Given the description of an element on the screen output the (x, y) to click on. 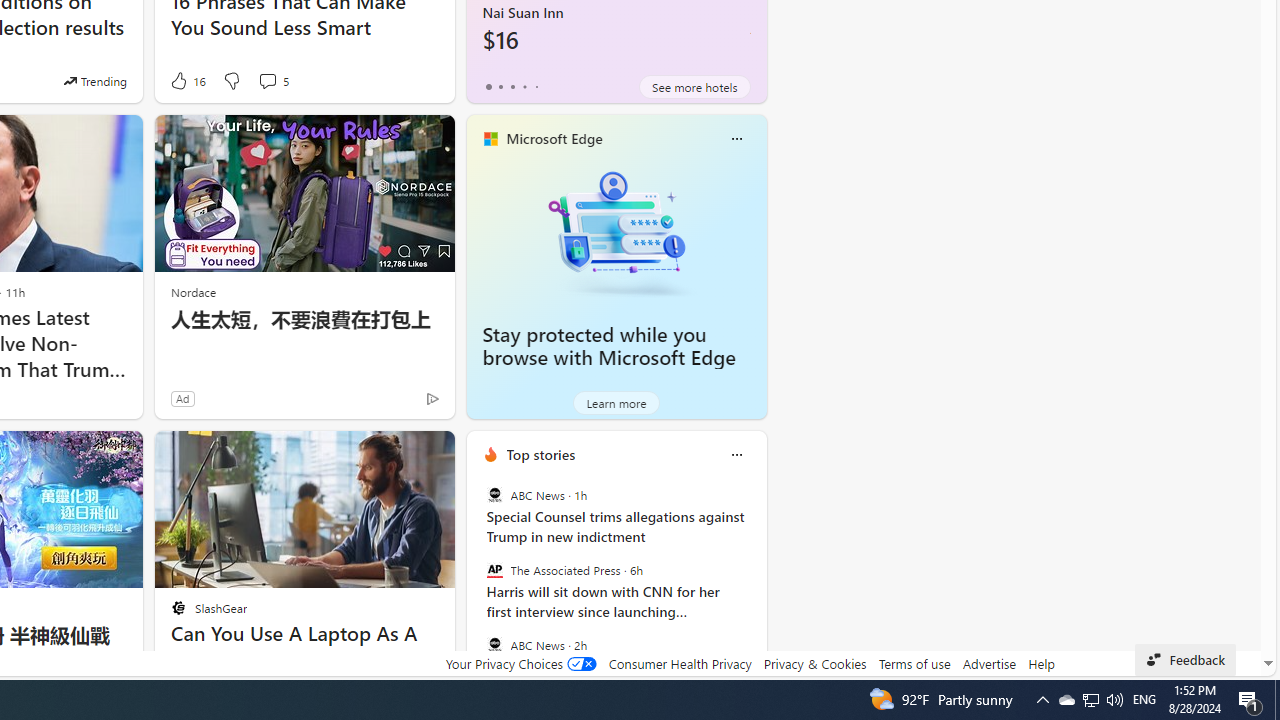
Your Privacy Choices (520, 663)
View comments 5 Comment (272, 80)
The Associated Press (494, 570)
Top stories (540, 454)
previous (476, 583)
Stay protected while you browse with Microsoft Edge (609, 346)
next (756, 583)
Hide this story (393, 454)
